Given the description of an element on the screen output the (x, y) to click on. 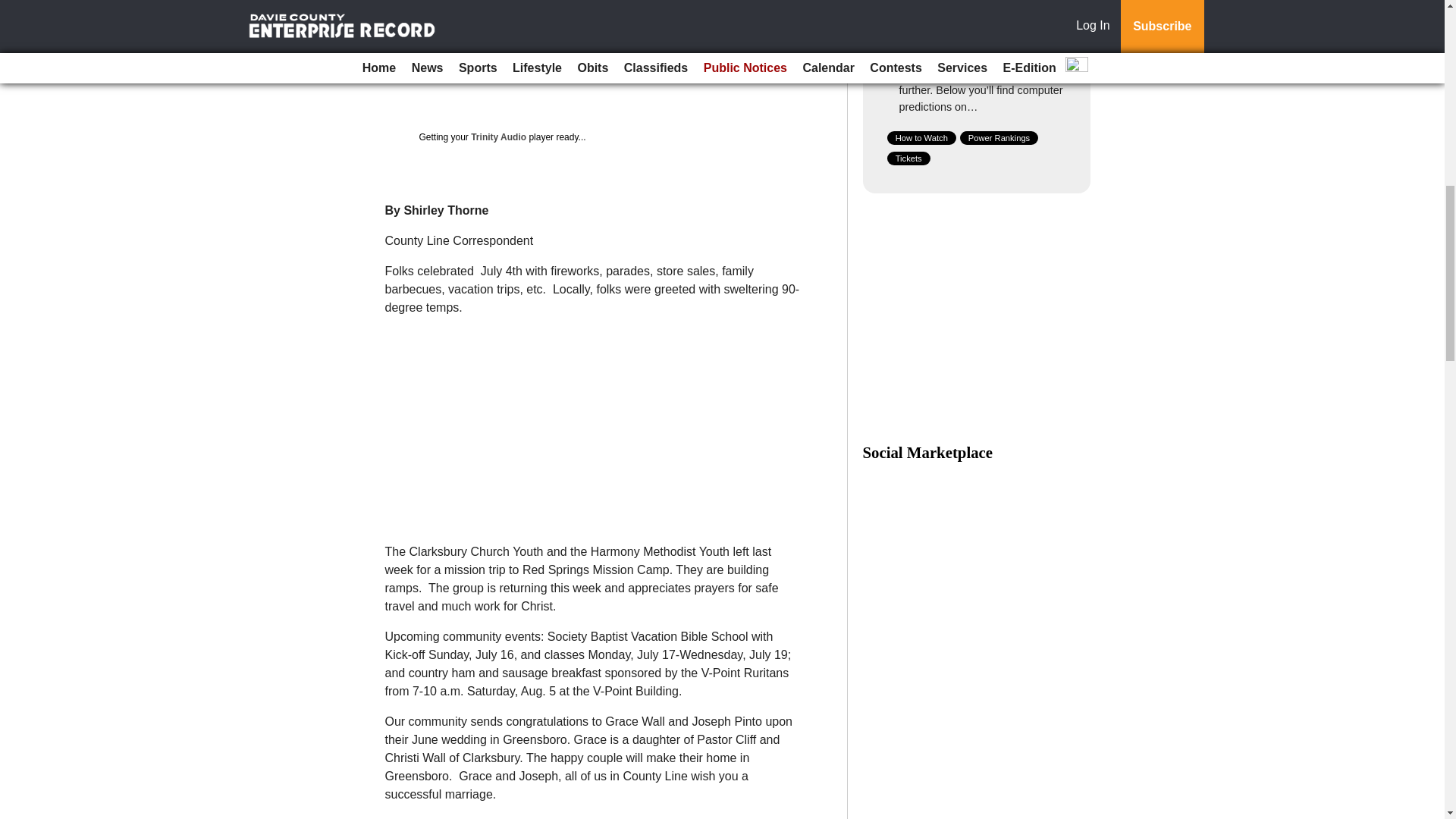
WNBA Betting Picks: Sunday, September 1 (978, 30)
Power Rankings (999, 137)
How to Watch (921, 137)
Trinity Audio (497, 136)
Tickets (908, 158)
